Given the description of an element on the screen output the (x, y) to click on. 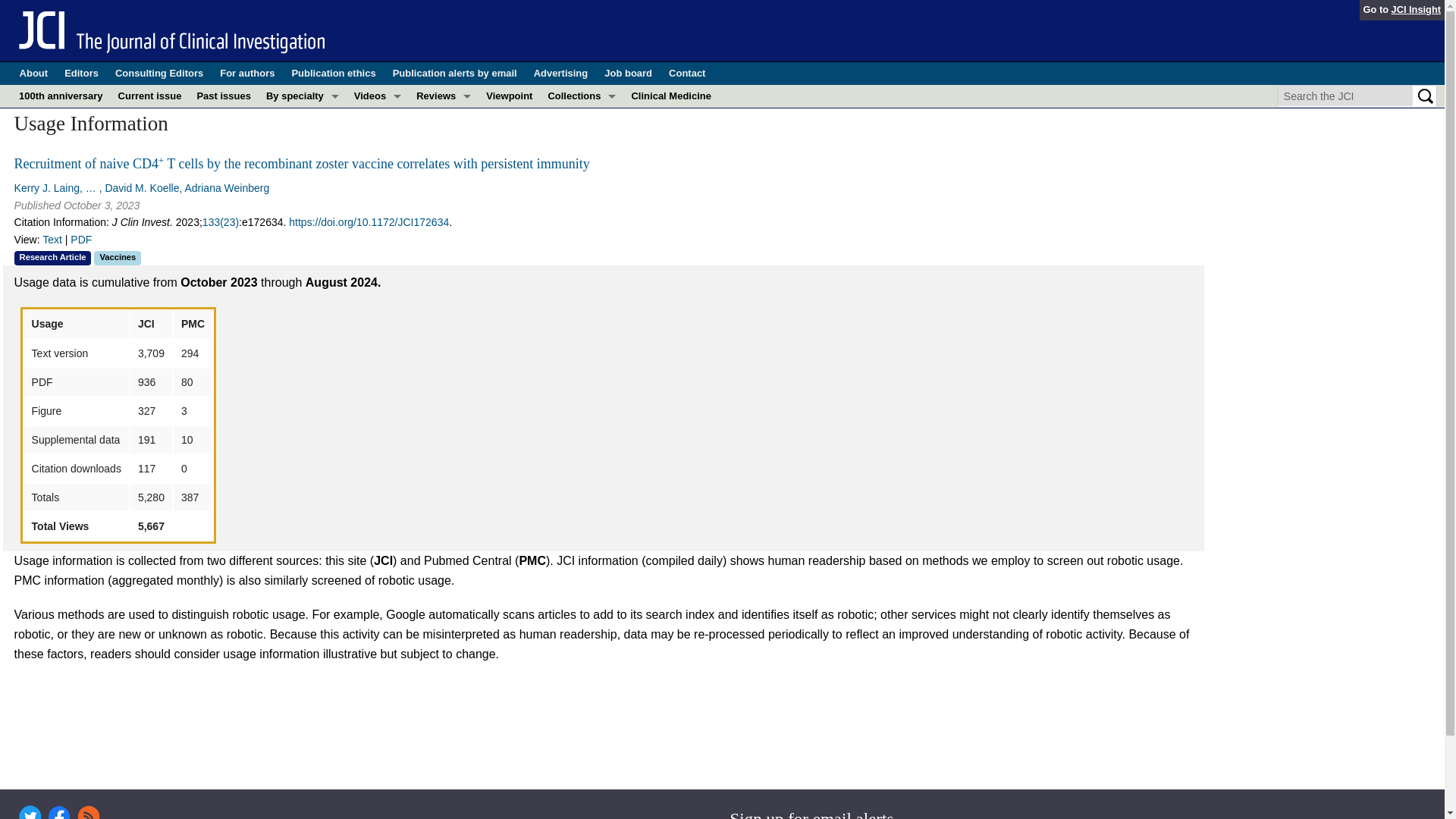
Nephrology (302, 232)
Editors (81, 73)
Current issue (149, 96)
Pulmonology (302, 300)
Twitter (30, 812)
Vascular biology (302, 323)
Contact (686, 73)
Reviews (444, 96)
Facebook (58, 812)
Publication alerts by email (454, 73)
